Given the description of an element on the screen output the (x, y) to click on. 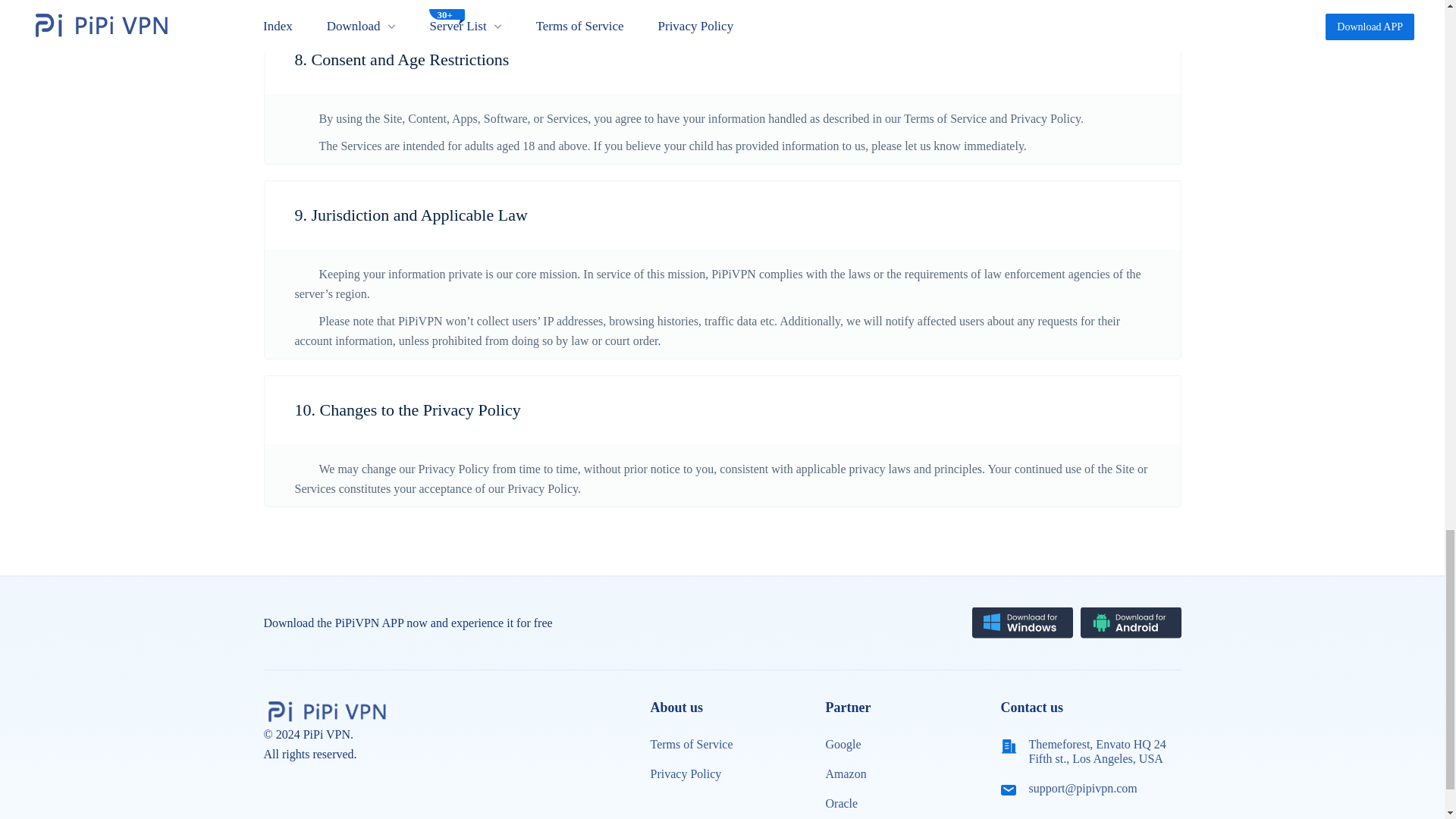
Themeforest, Envato HQ 24 Fifth st., Los Angeles, USA (1100, 751)
Google (842, 744)
Amazon (845, 773)
Oracle (841, 803)
Privacy Policy (686, 773)
Terms of Service (691, 744)
